Given the description of an element on the screen output the (x, y) to click on. 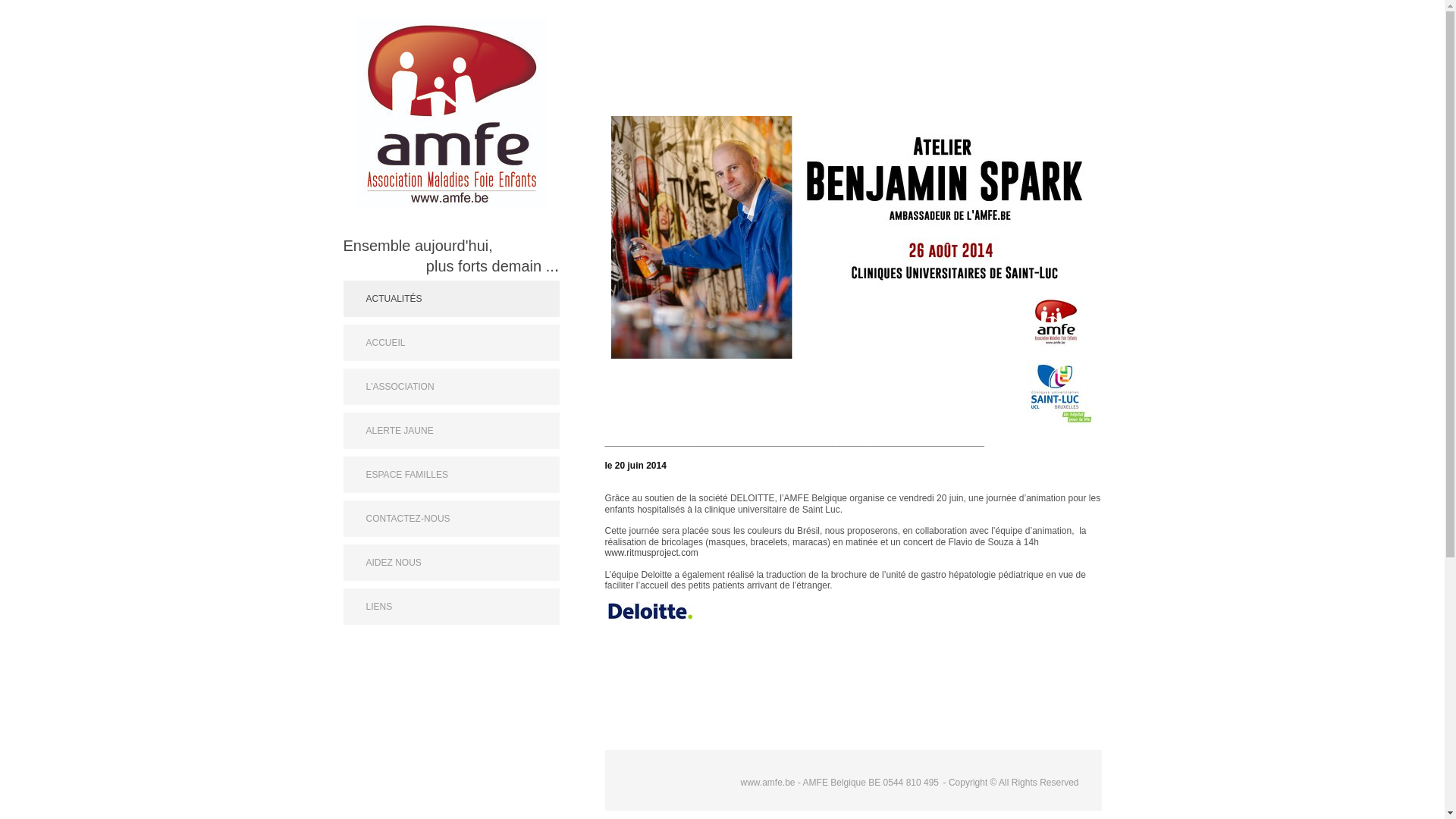
LIENS Element type: text (450, 606)
ESPACE FAMILLES Element type: text (450, 474)
www.ritmusproject.com Element type: text (651, 552)
CONTACTEZ-NOUS Element type: text (450, 518)
ALERTE JAUNE Element type: text (450, 430)
L'ASSOCIATION Element type: text (450, 386)
AIDEZ NOUS Element type: text (450, 562)
ACCUEIL Element type: text (450, 342)
